Given the description of an element on the screen output the (x, y) to click on. 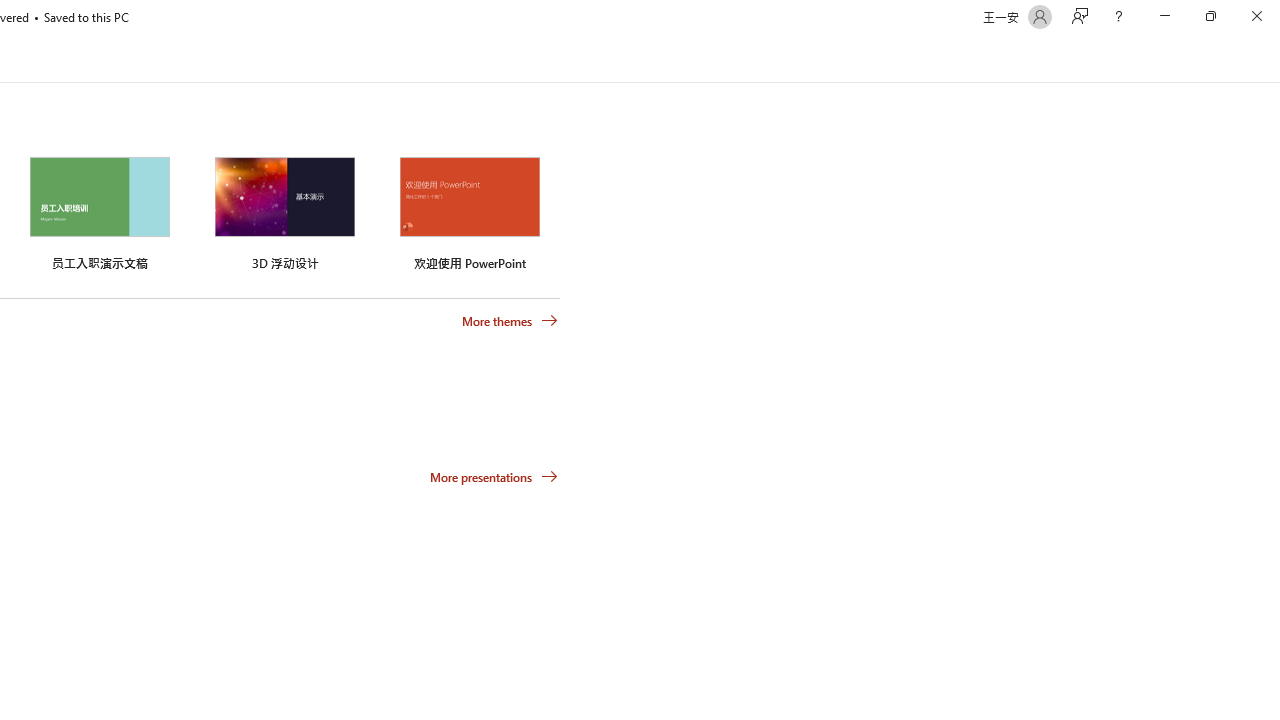
More themes (509, 321)
More presentations (493, 476)
Class: NetUIScrollBar (1271, 59)
